Given the description of an element on the screen output the (x, y) to click on. 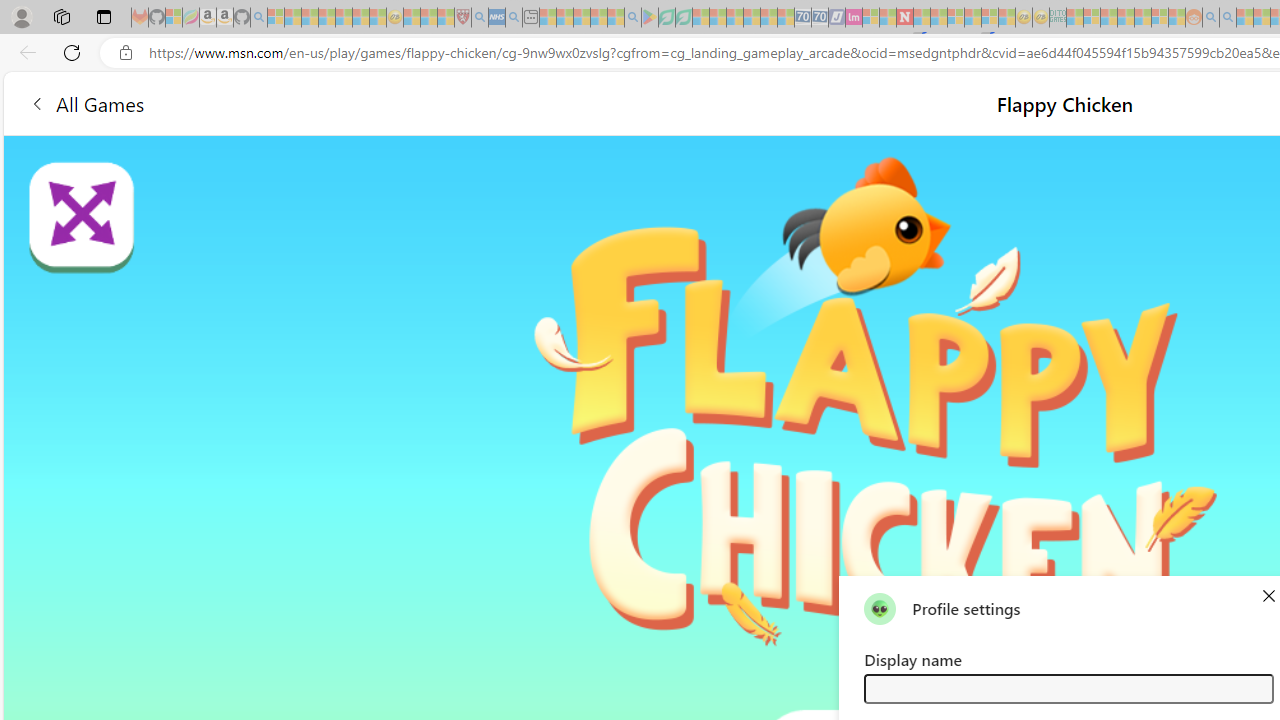
All Games (86, 102)
Jobs - lastminute.com Investor Portal - Sleeping (853, 17)
Class: text-input (1068, 688)
